Given the description of an element on the screen output the (x, y) to click on. 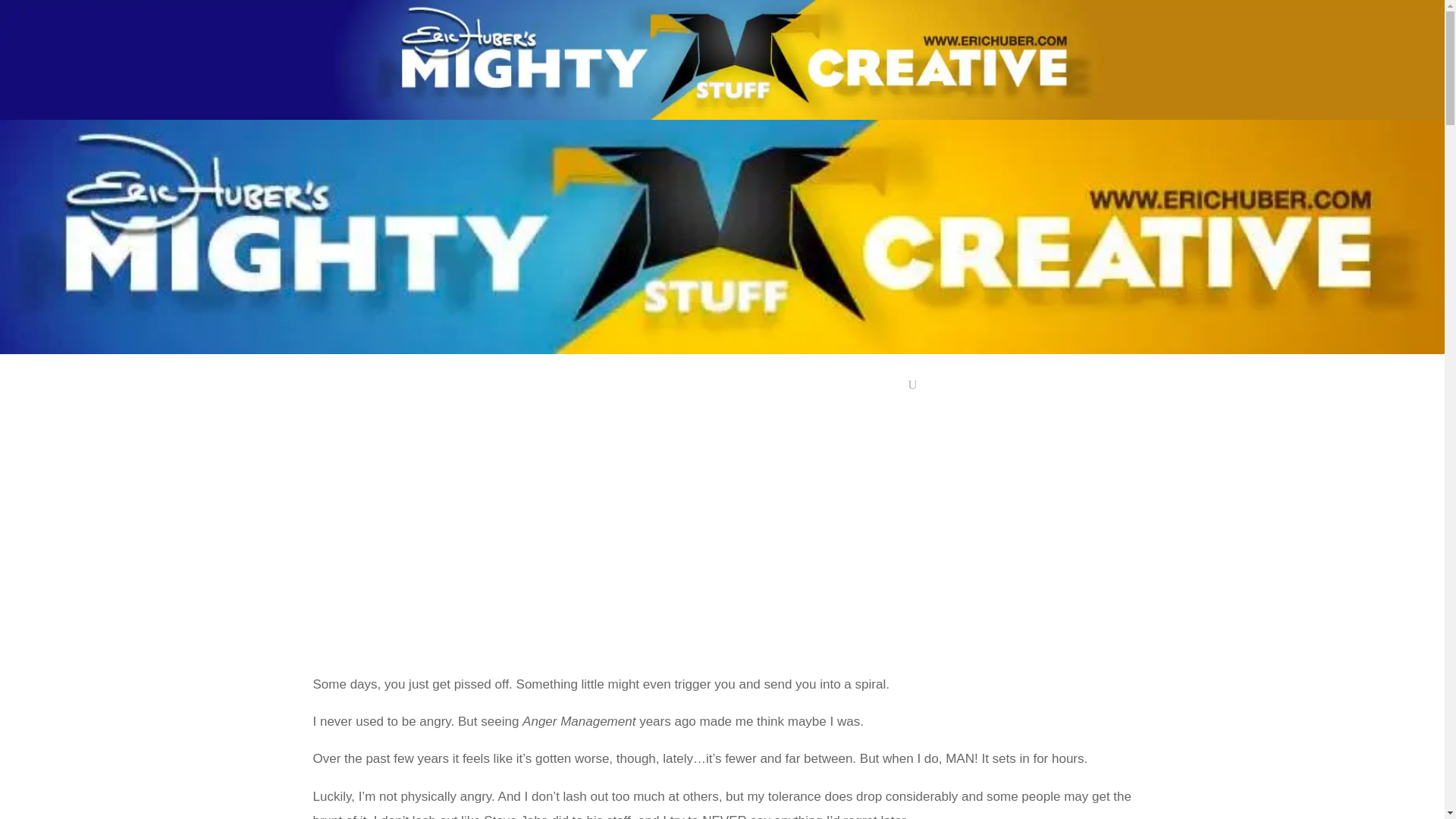
Contact (881, 388)
First Earth (822, 388)
Writing (651, 388)
HOME (534, 388)
About (588, 388)
Other Creativity (735, 388)
